Given the description of an element on the screen output the (x, y) to click on. 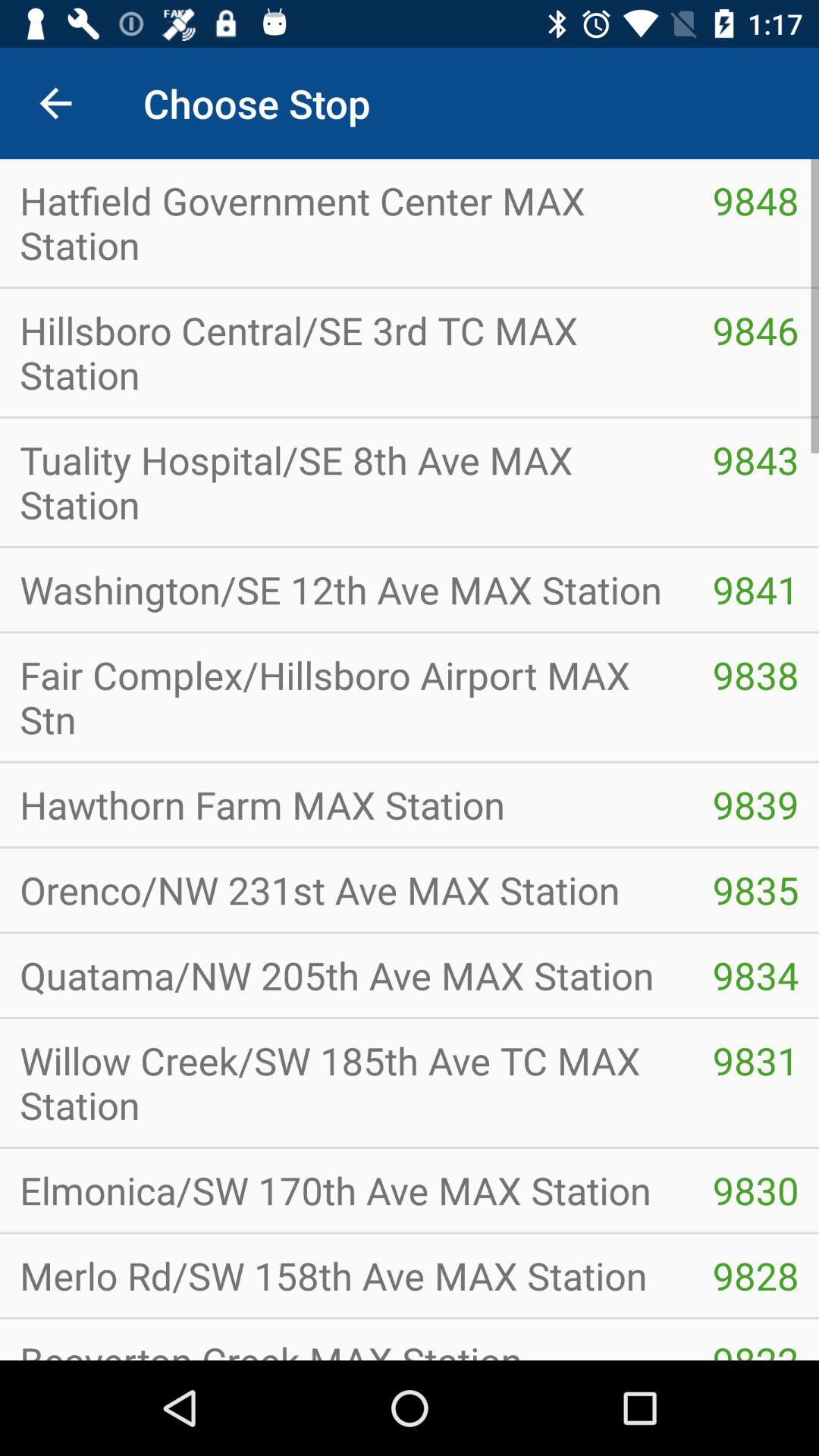
turn off the icon next to the choose stop item (55, 103)
